Given the description of an element on the screen output the (x, y) to click on. 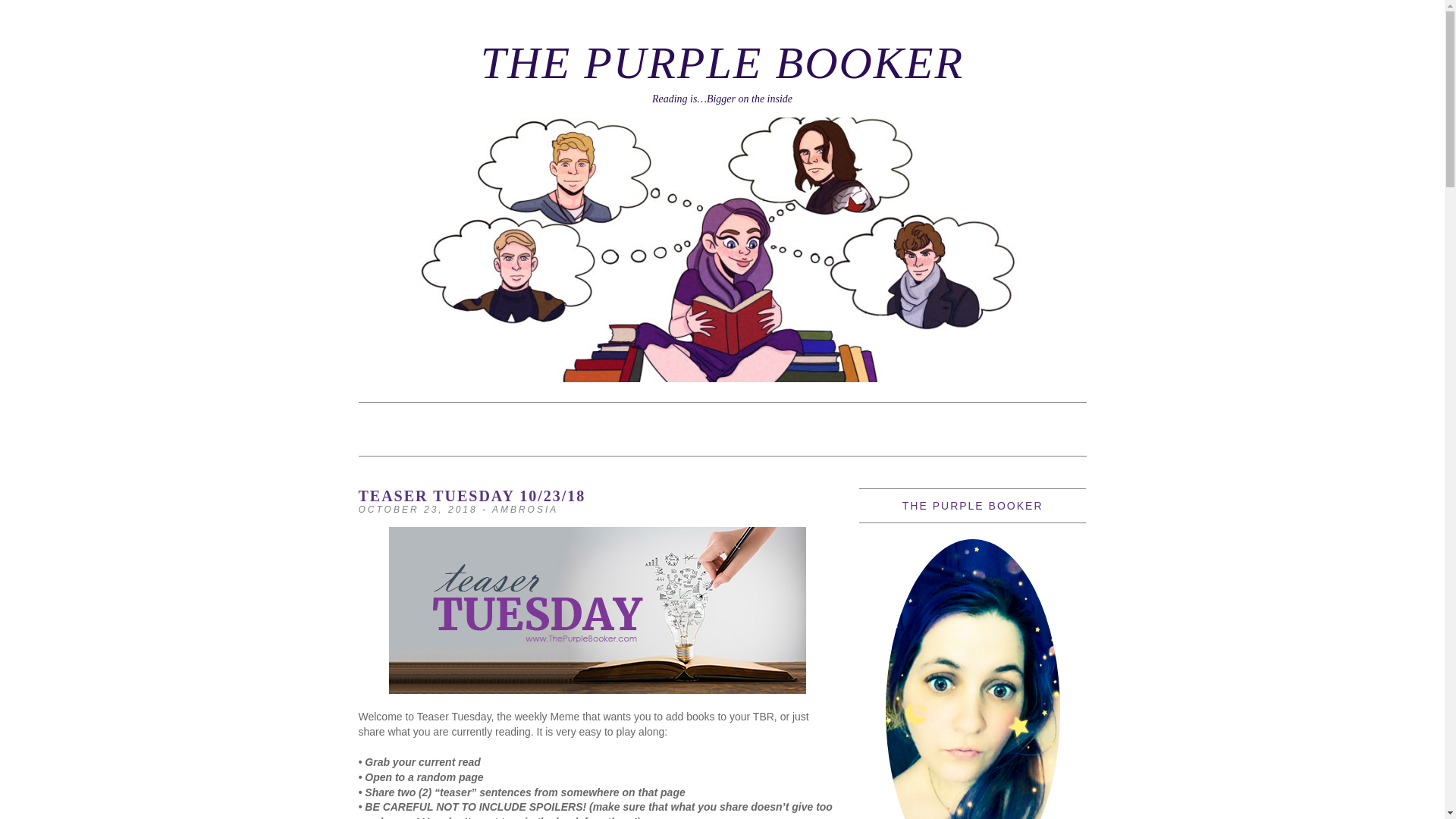
THE PURPLE BOOKER (721, 62)
SPONSORSHIP INFORMATION (462, 437)
BOOK CHALLENGES (567, 422)
NEED A REVIEW? (813, 422)
AWARDS (454, 422)
OCTOBER 23, 2018 (417, 509)
HOME (387, 422)
CONTACT ME (694, 422)
AMBROSIA (524, 509)
